Given the description of an element on the screen output the (x, y) to click on. 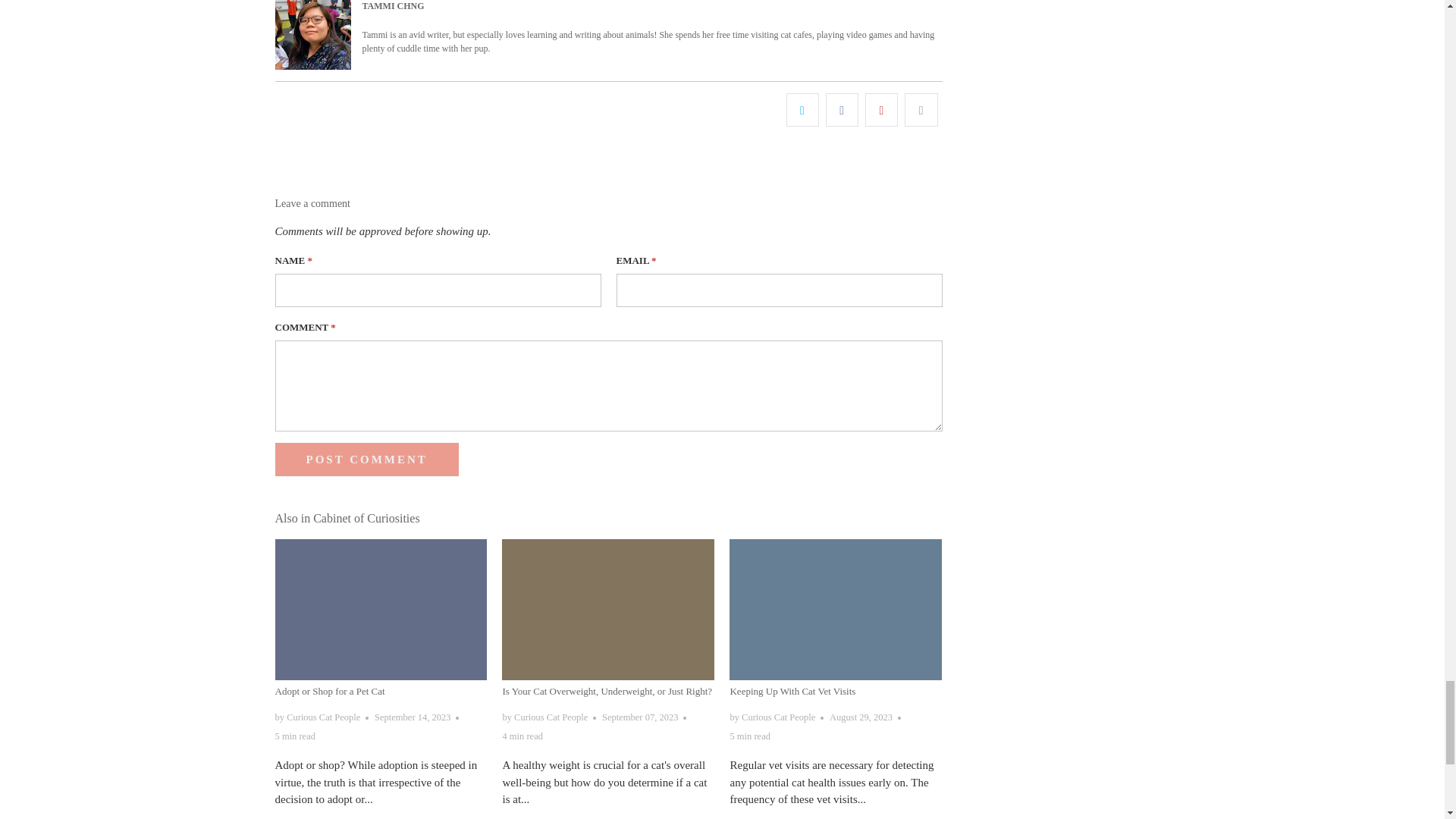
Post comment (366, 459)
